Given the description of an element on the screen output the (x, y) to click on. 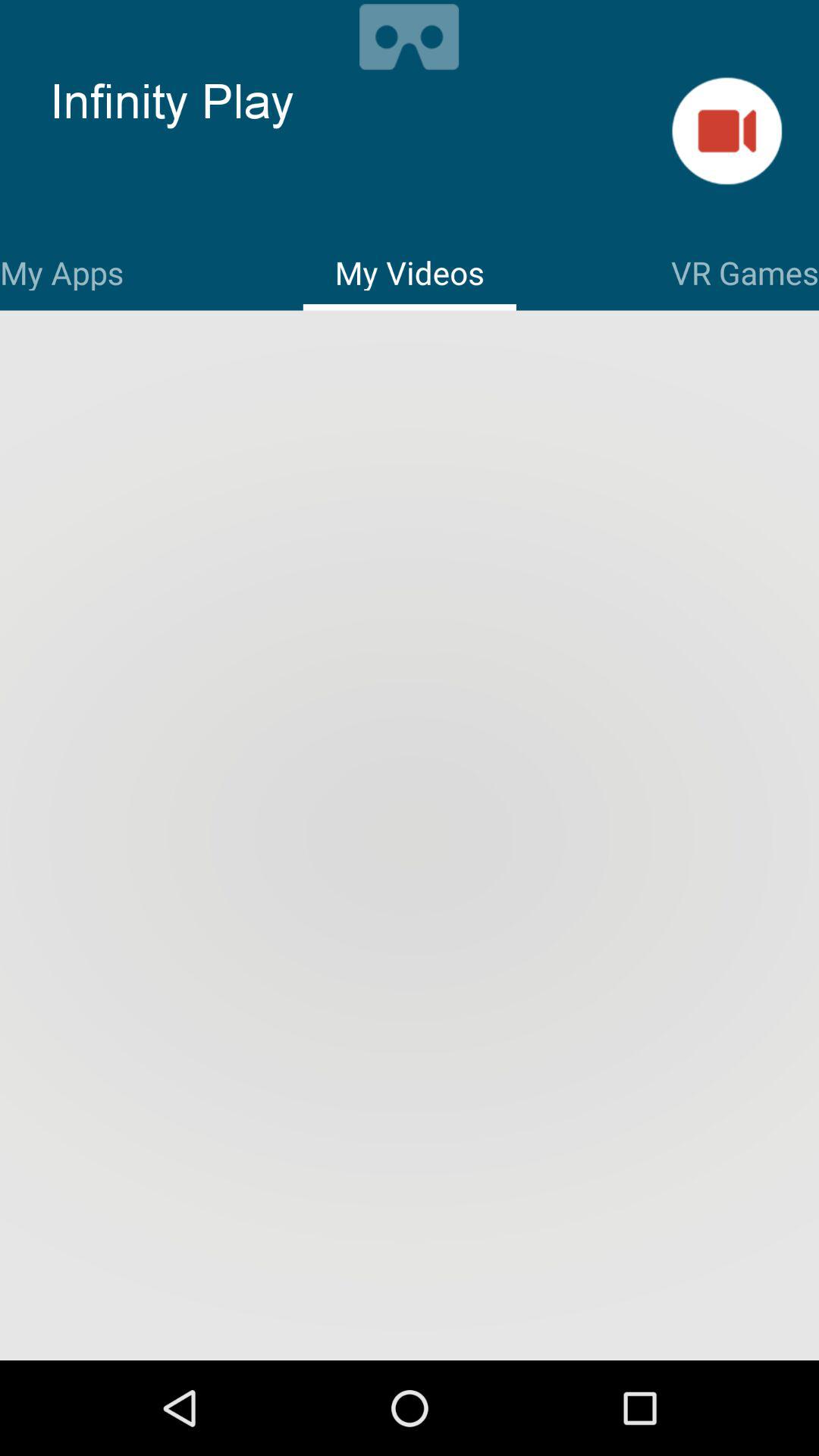
select icon below the my apps app (409, 837)
